Given the description of an element on the screen output the (x, y) to click on. 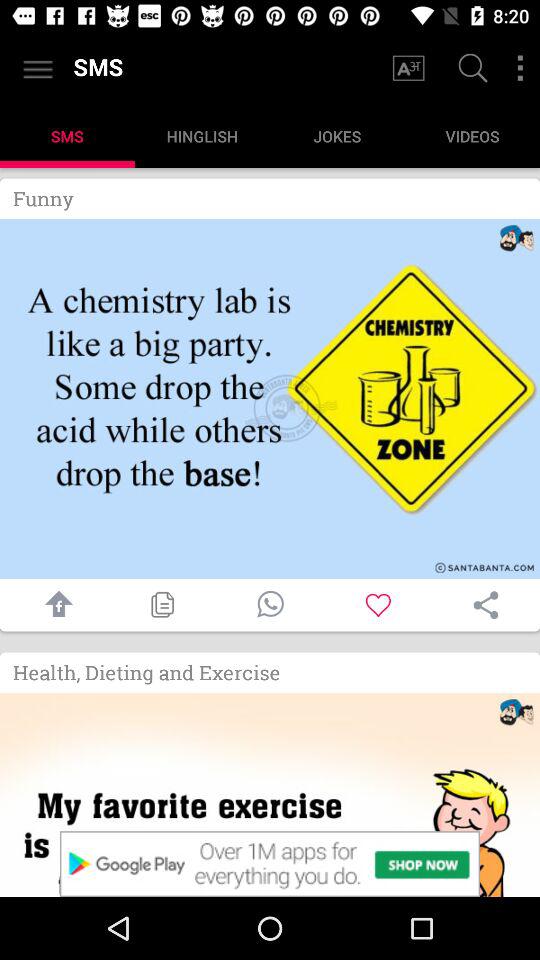
add sms to favorites (378, 604)
